Given the description of an element on the screen output the (x, y) to click on. 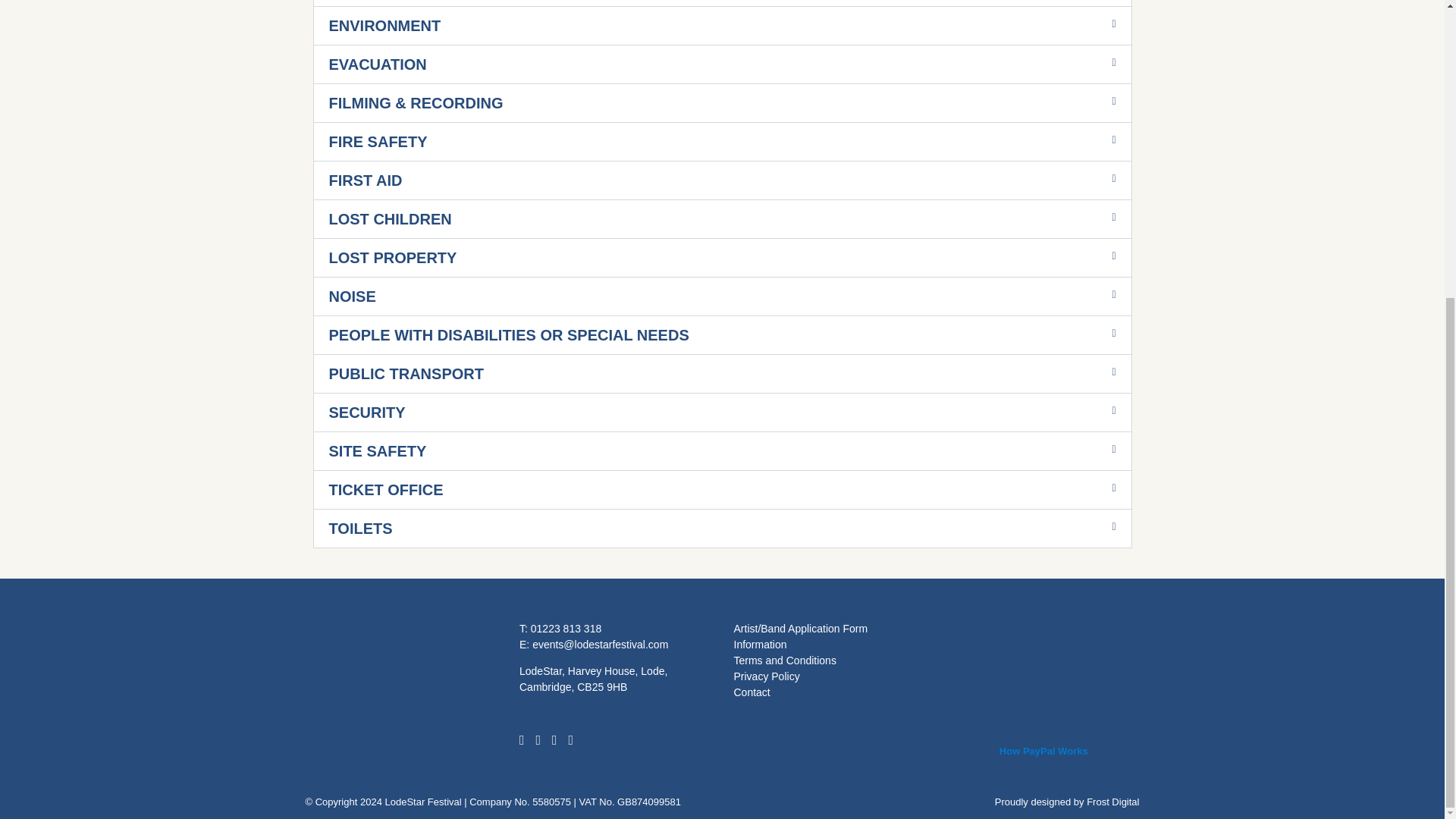
FIRE SAFETY (378, 141)
NOISE (352, 296)
LOST CHILDREN (390, 218)
LOST PROPERTY (393, 257)
EVACUATION (377, 64)
ENVIRONMENT (385, 25)
PEOPLE WITH DISABILITIES OR SPECIAL NEEDS (508, 334)
FIRST AID (366, 180)
PUBLIC TRANSPORT (406, 373)
How PayPal Works (1042, 651)
